Given the description of an element on the screen output the (x, y) to click on. 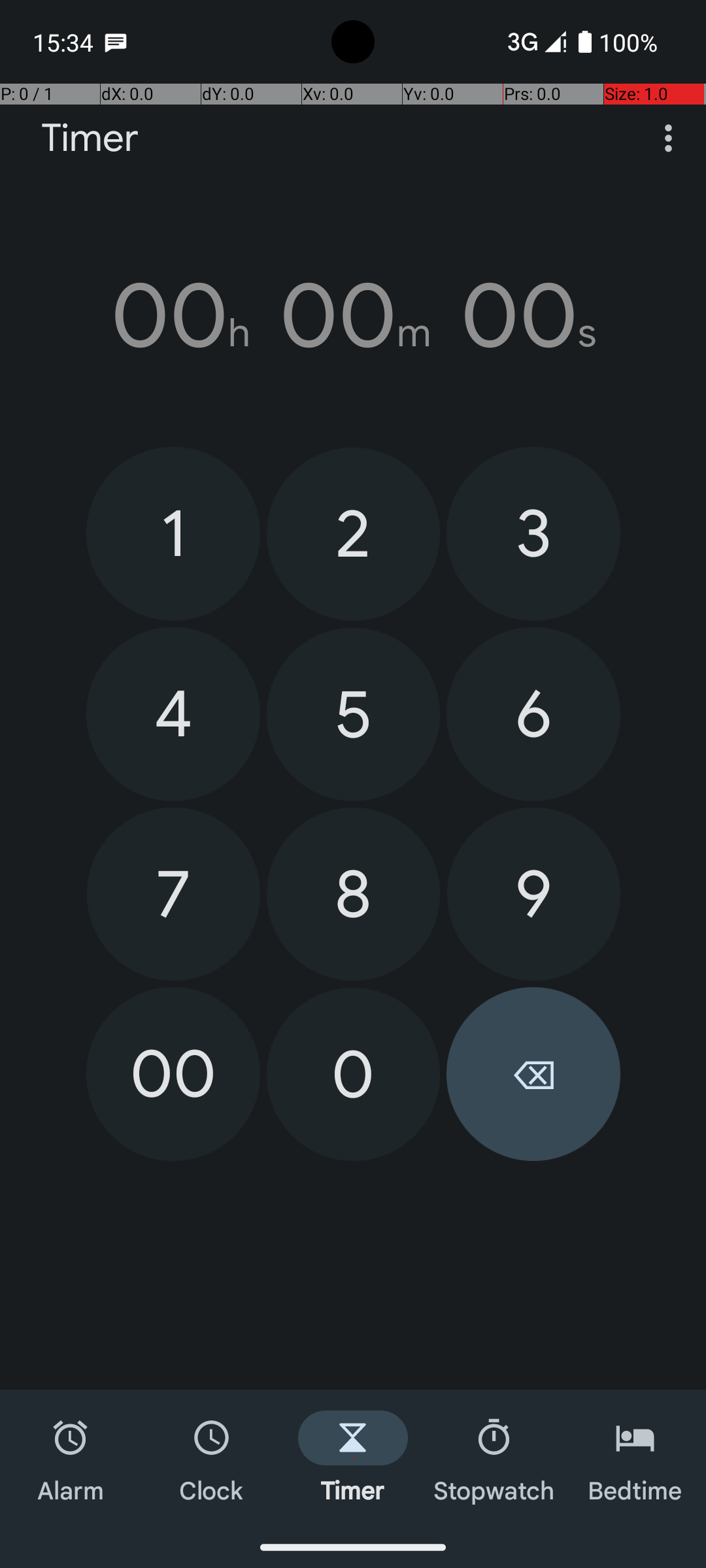
00h 00m 00s Element type: android.widget.TextView (353, 315)
0 Element type: android.widget.Button (352, 1073)
⌫ Element type: android.widget.Button (533, 1073)
SMS Messenger notification: Matteo Ibrahim Element type: android.widget.ImageView (115, 41)
